Given the description of an element on the screen output the (x, y) to click on. 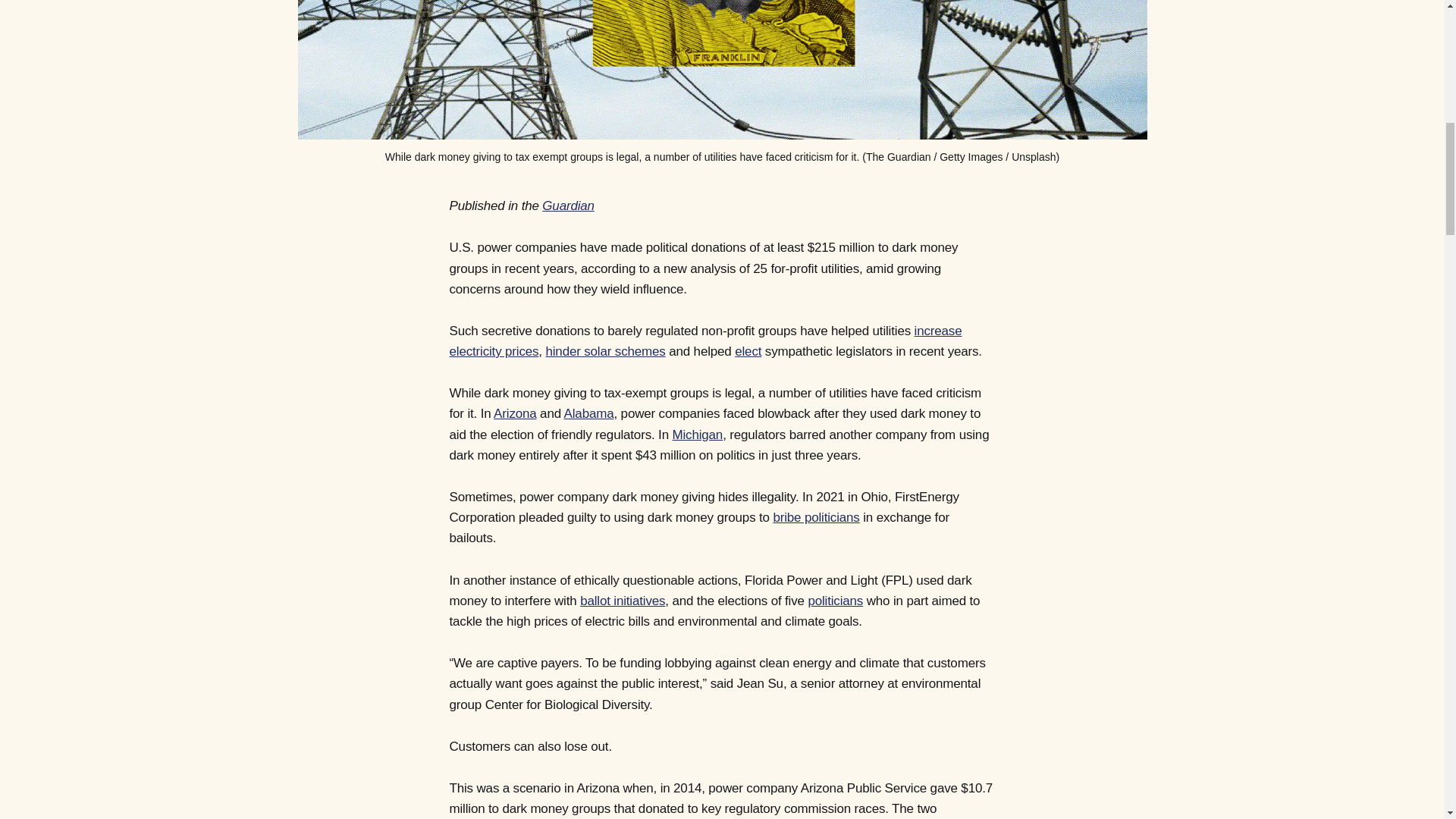
Guardian (567, 205)
Alabama (589, 413)
hinder solar schemes (604, 350)
politicians (835, 600)
increase electricity prices (704, 340)
bribe politicians (816, 517)
ballot initiatives (622, 600)
Arizona (514, 413)
elect (748, 350)
Michigan (696, 434)
